Given the description of an element on the screen output the (x, y) to click on. 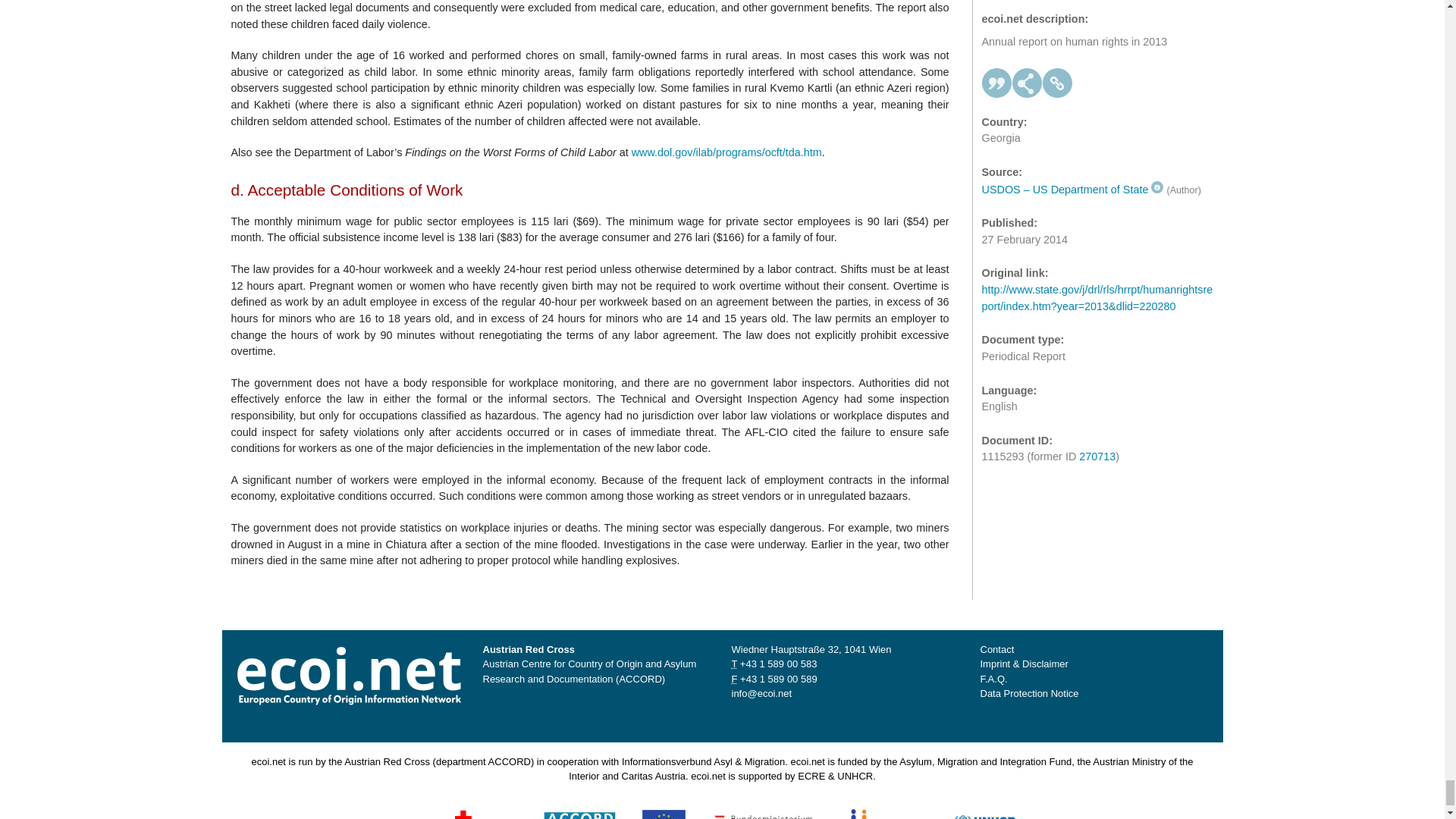
UNHCR - The UN Refugee Agency (1006, 818)
Telephone (777, 663)
Austrian Red Cross (463, 818)
Telefax (777, 678)
